Given the description of an element on the screen output the (x, y) to click on. 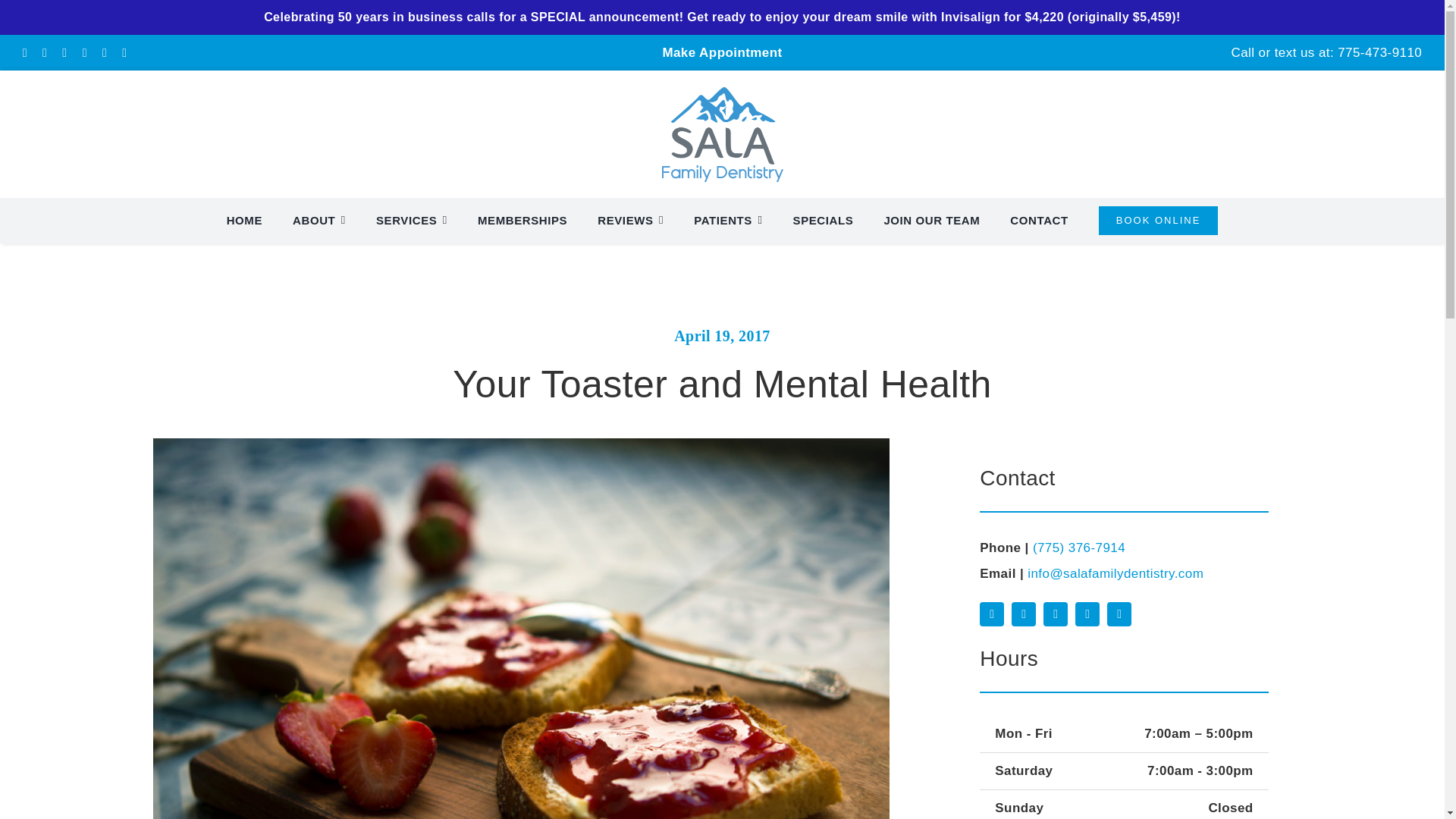
Tiktok (1087, 613)
Instagram (1023, 613)
ABOUT (319, 220)
Make Appointment (721, 52)
775-473-9110 (1380, 52)
Facebook (991, 613)
HOME (244, 220)
SERVICES (410, 220)
LinkedIn (1055, 613)
